Given the description of an element on the screen output the (x, y) to click on. 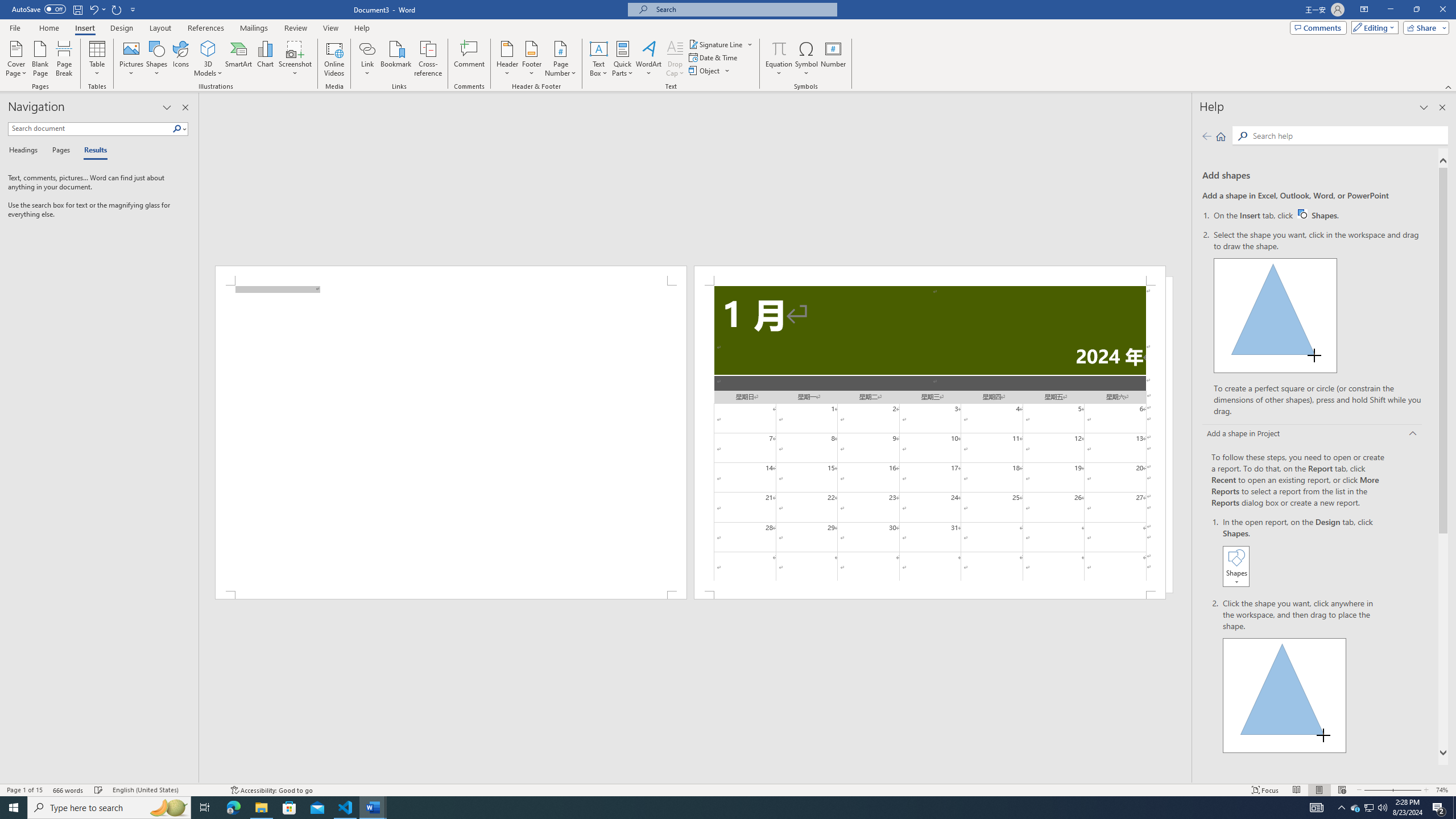
Link (367, 58)
